Given the description of an element on the screen output the (x, y) to click on. 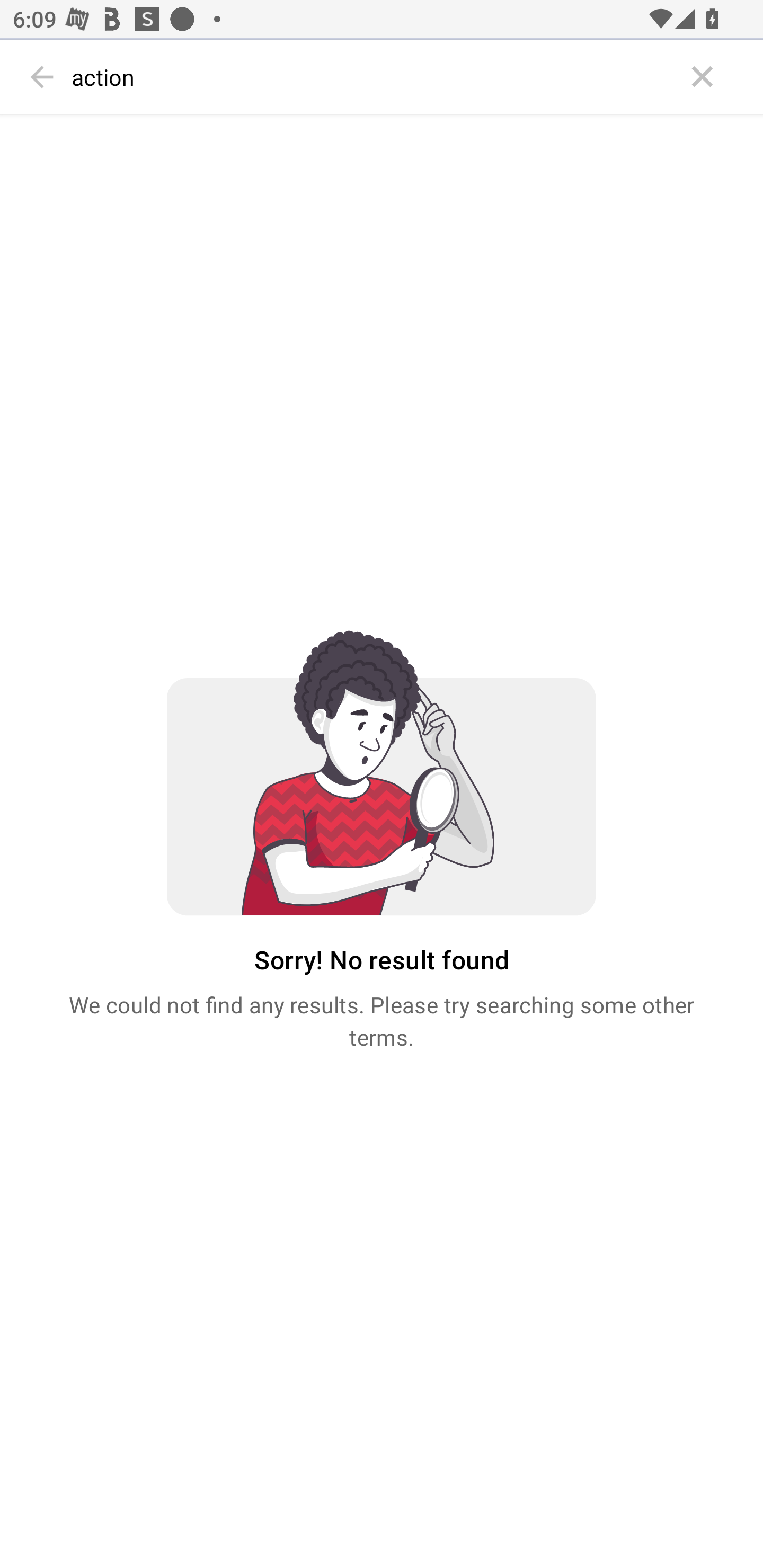
Back (42, 76)
action (373, 76)
Close (702, 76)
